Given the description of an element on the screen output the (x, y) to click on. 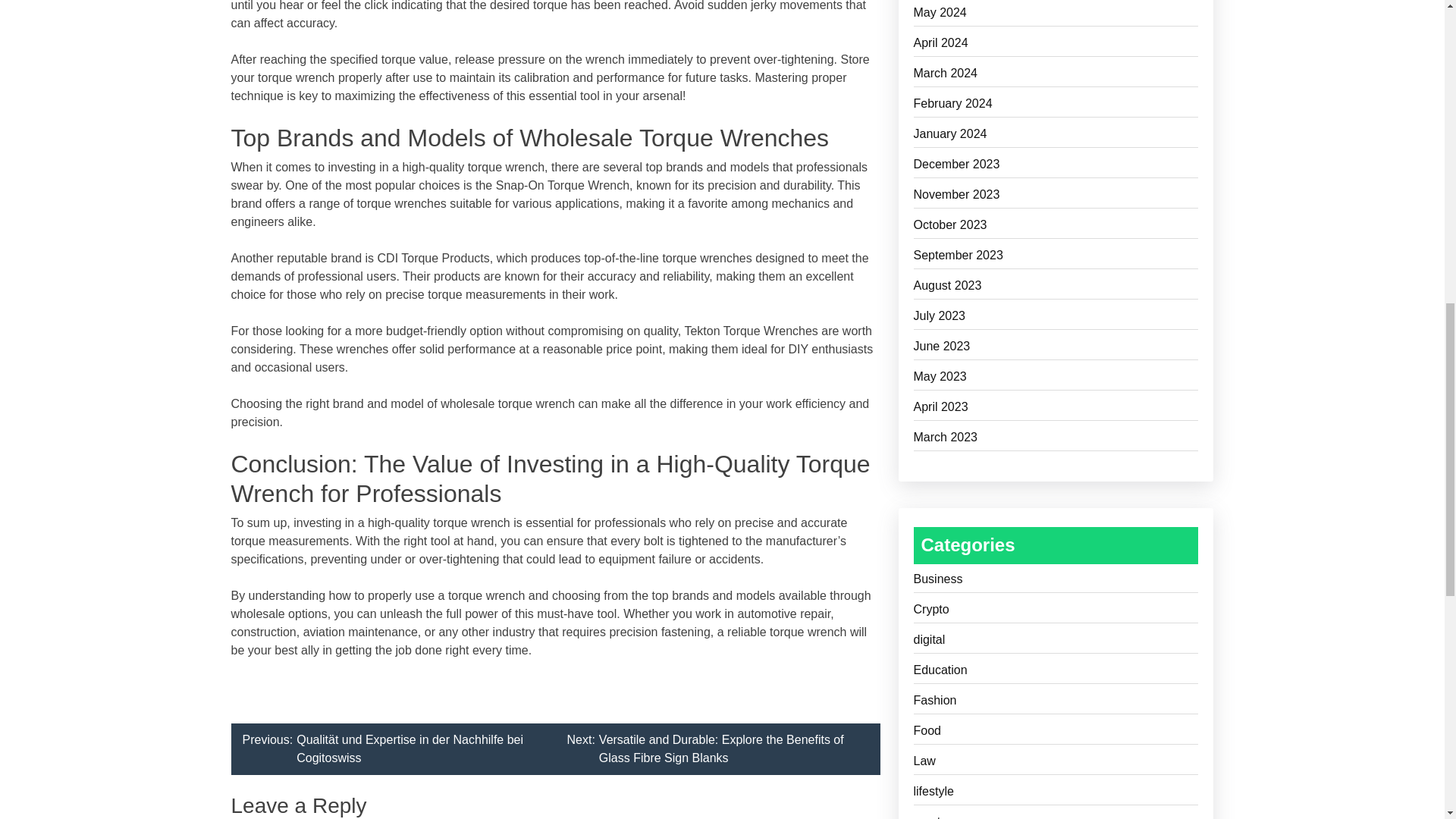
Education (1055, 671)
July 2023 (1055, 318)
Business (1055, 581)
June 2023 (1055, 348)
May 2023 (1055, 378)
Crypto (1055, 611)
April 2023 (1055, 409)
January 2024 (1055, 136)
March 2024 (1055, 75)
March 2023 (1055, 439)
November 2023 (1055, 196)
May 2024 (1055, 15)
December 2023 (1055, 166)
August 2023 (1055, 287)
